Given the description of an element on the screen output the (x, y) to click on. 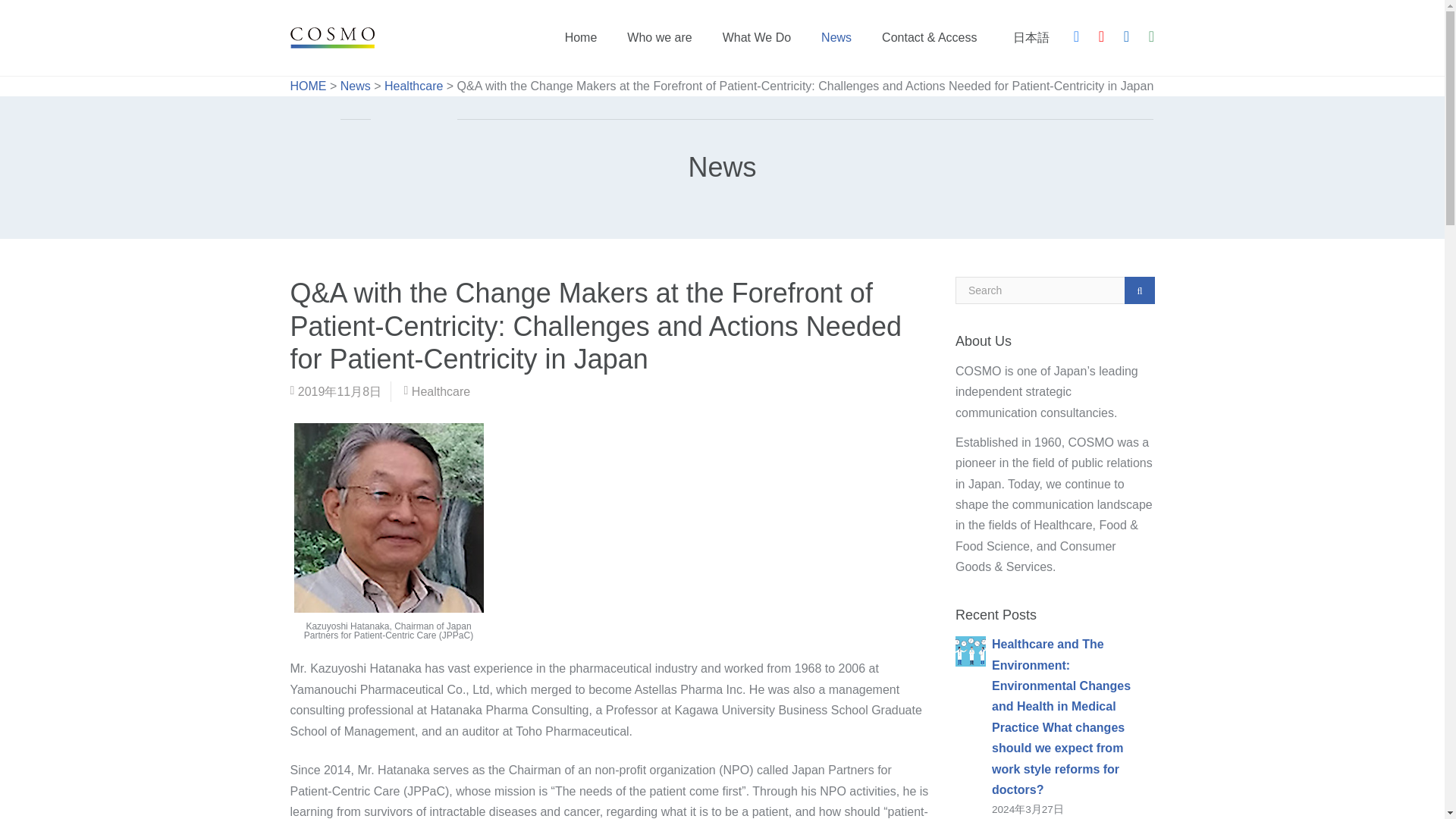
HOME (307, 85)
Go to the Healthcare category archives. (413, 85)
What We Do (756, 38)
Go to News. (355, 85)
Healthcare (413, 85)
Healthcare (441, 391)
News (355, 85)
Go to COSMO. (307, 85)
Search (1139, 289)
Who we are (658, 38)
